Given the description of an element on the screen output the (x, y) to click on. 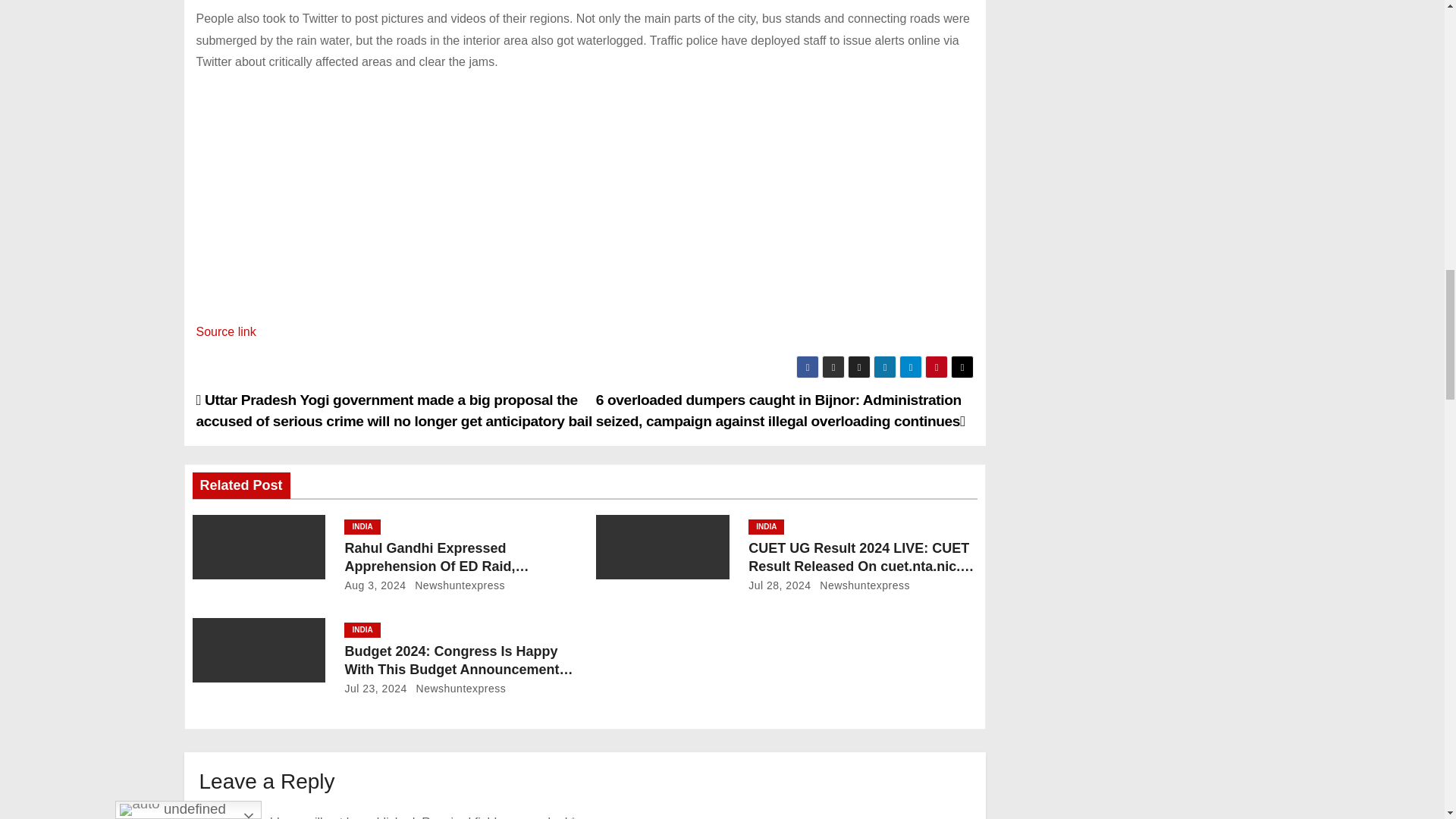
INDIA (361, 526)
INDIA (766, 526)
Source link (225, 331)
Aug 3, 2024 (374, 585)
Newshuntexpress (457, 585)
